Given the description of an element on the screen output the (x, y) to click on. 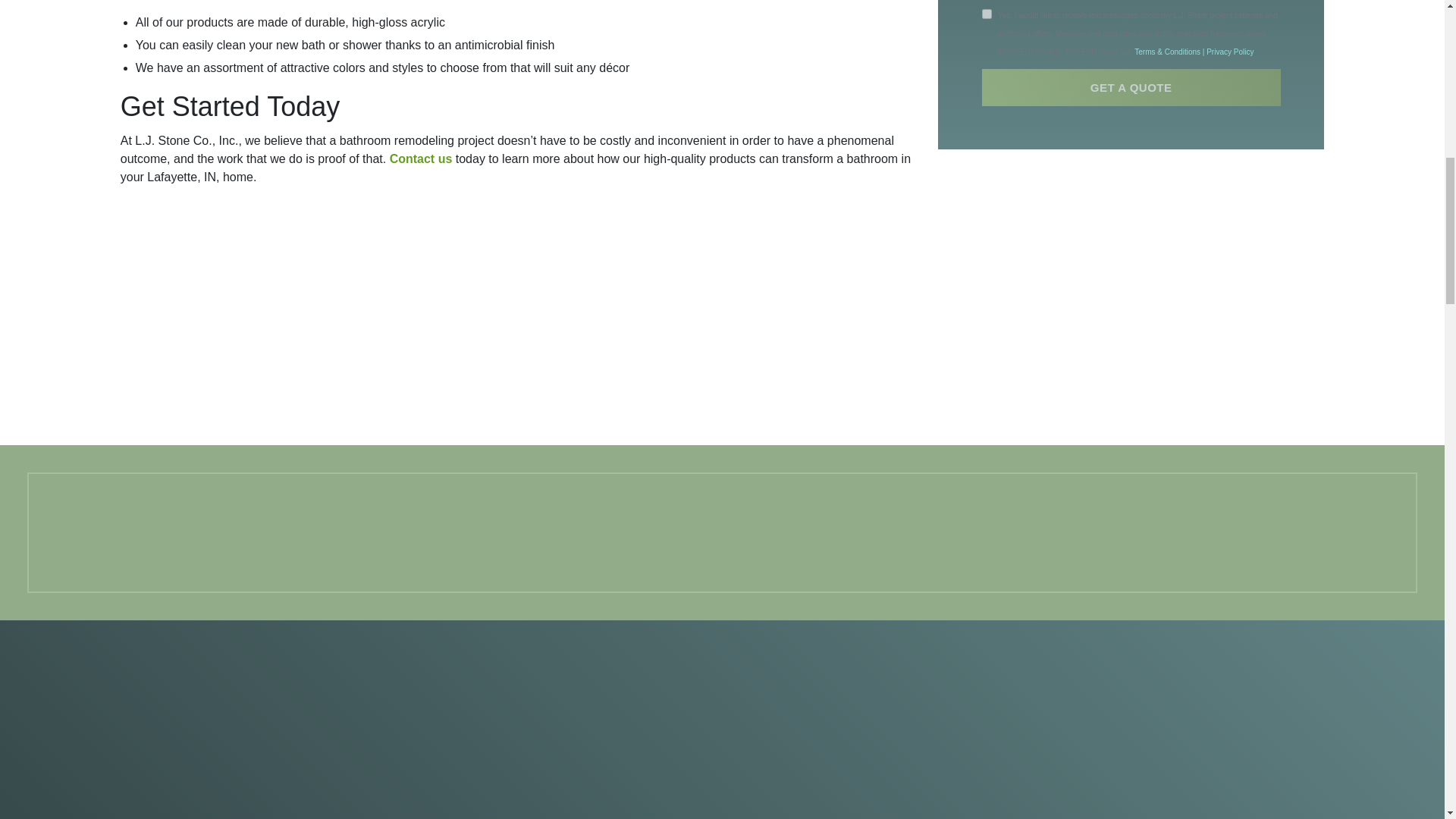
Get a Quote (1131, 64)
